Given the description of an element on the screen output the (x, y) to click on. 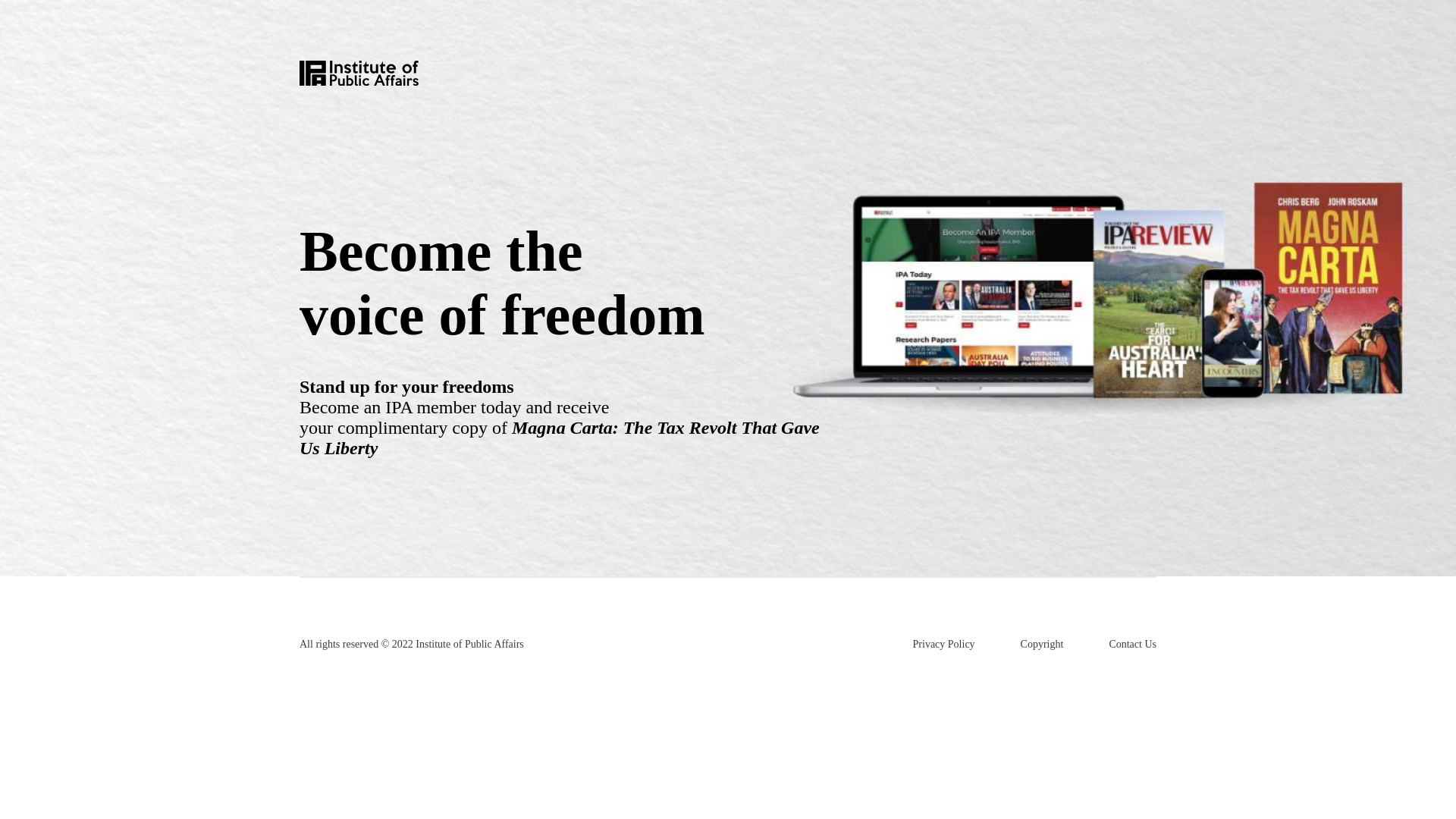
Privacy Policy (943, 644)
Contact Us (1132, 644)
Copyright (1042, 644)
